Given the description of an element on the screen output the (x, y) to click on. 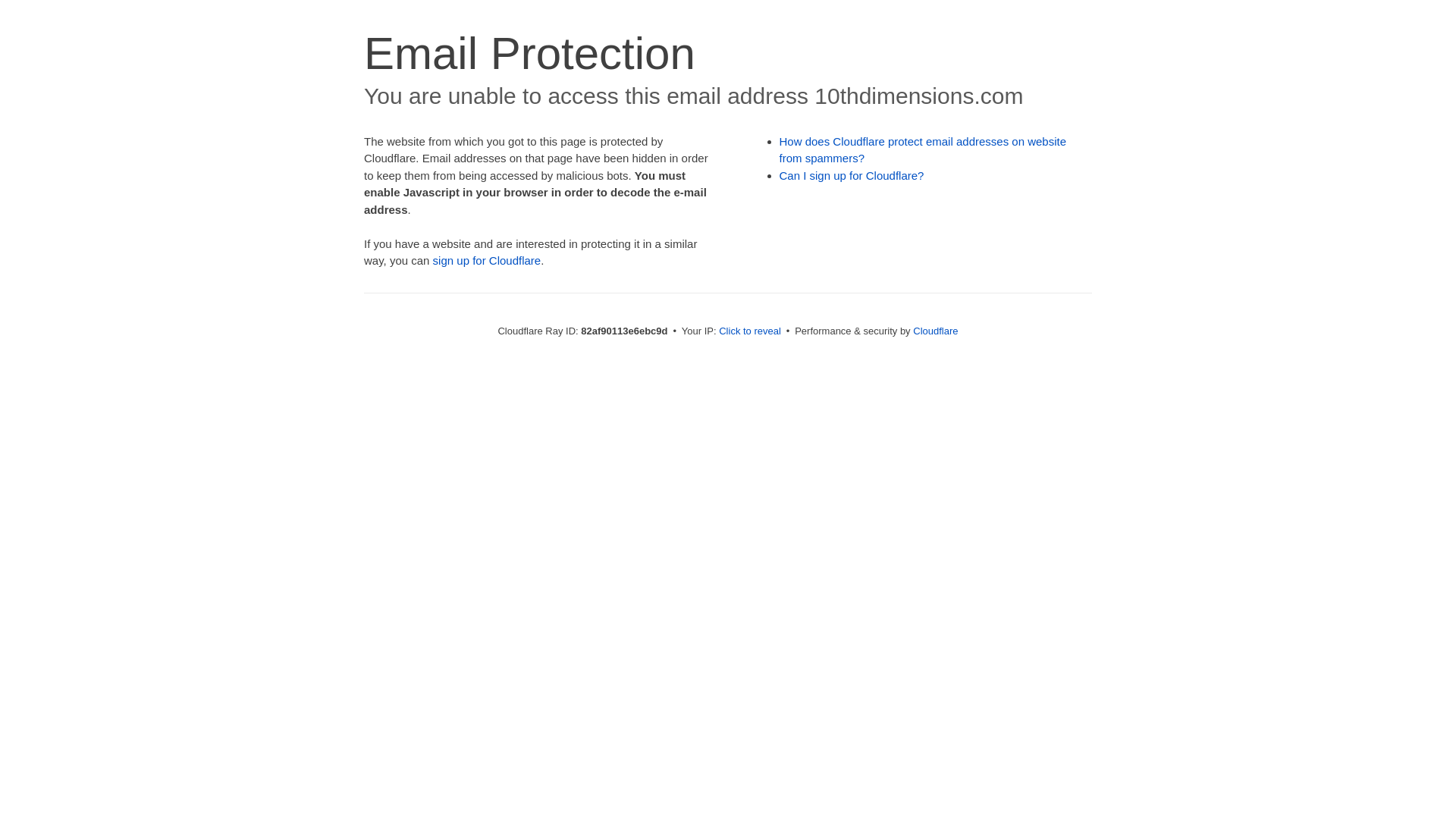
Can I sign up for Cloudflare? Element type: text (851, 175)
Cloudflare Element type: text (935, 330)
Click to reveal Element type: text (749, 330)
sign up for Cloudflare Element type: text (487, 260)
